Given the description of an element on the screen output the (x, y) to click on. 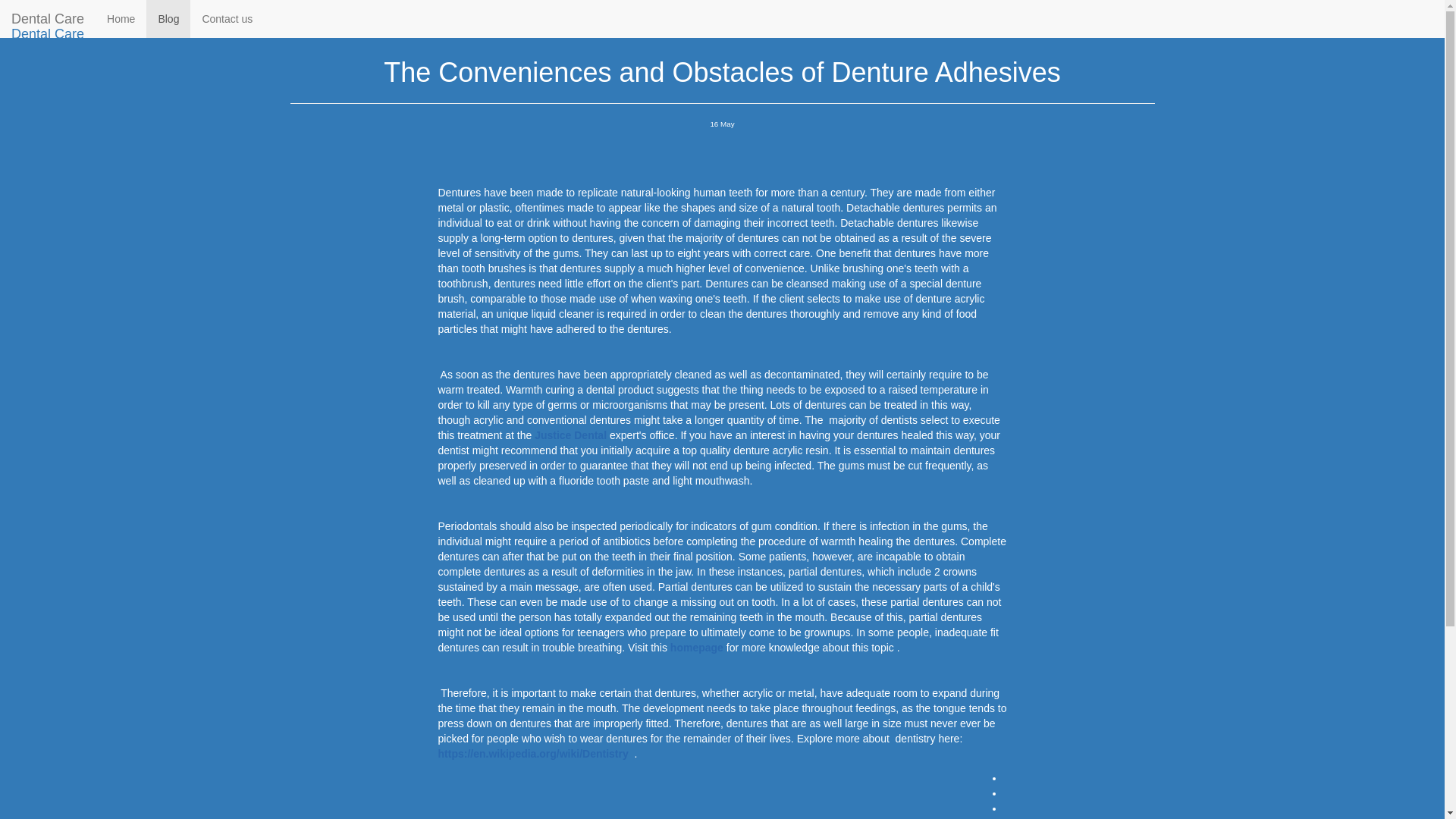
Dental Care (48, 18)
Blog (168, 18)
Contact us (226, 18)
Blog (342, 12)
Dental Care (48, 34)
Home (303, 12)
Justice Dental  (572, 435)
Home (121, 18)
